Given the description of an element on the screen output the (x, y) to click on. 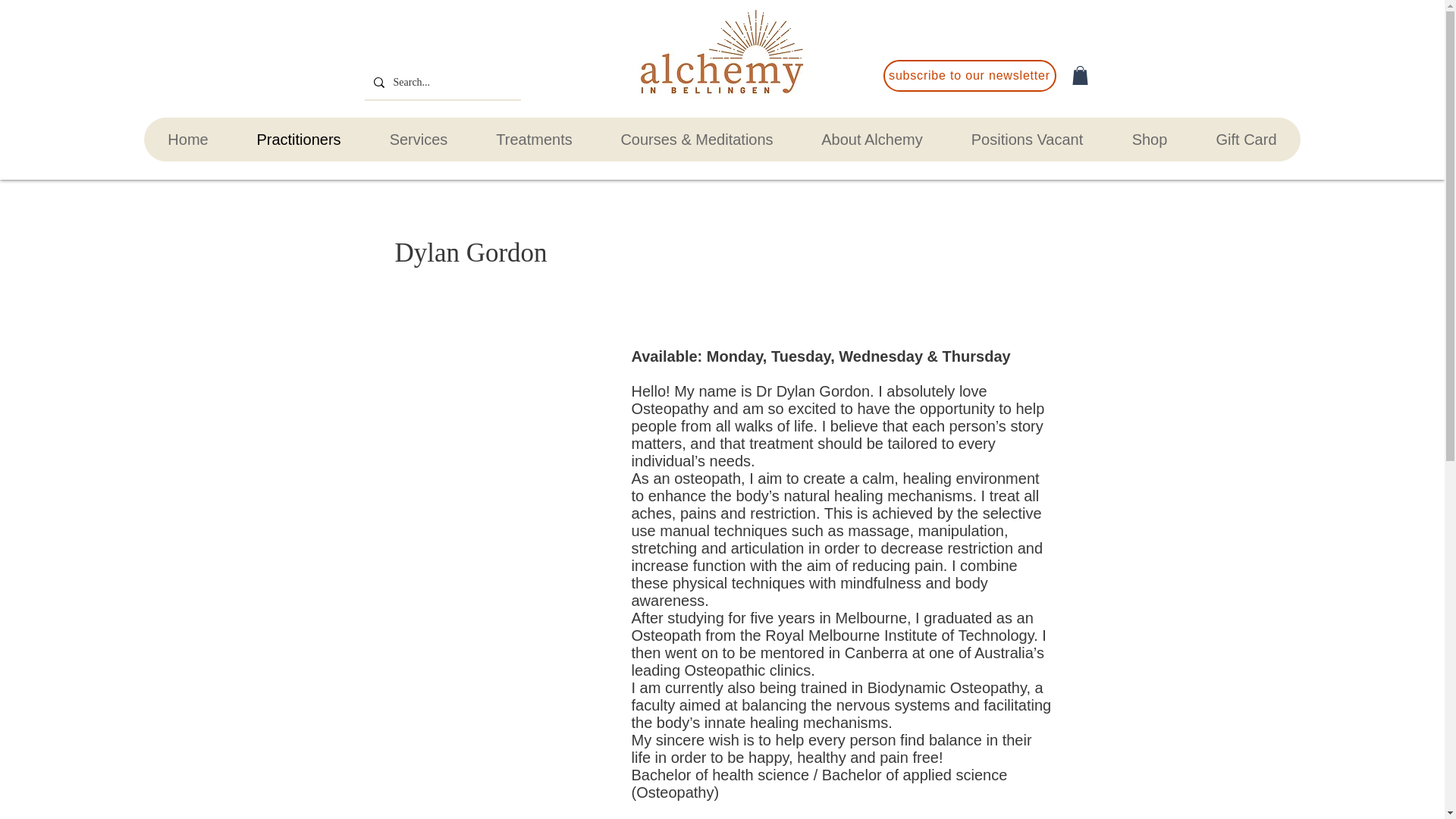
subscribe to our newsletter (968, 75)
Practitioners (298, 139)
Home (187, 139)
Services (418, 139)
